Given the description of an element on the screen output the (x, y) to click on. 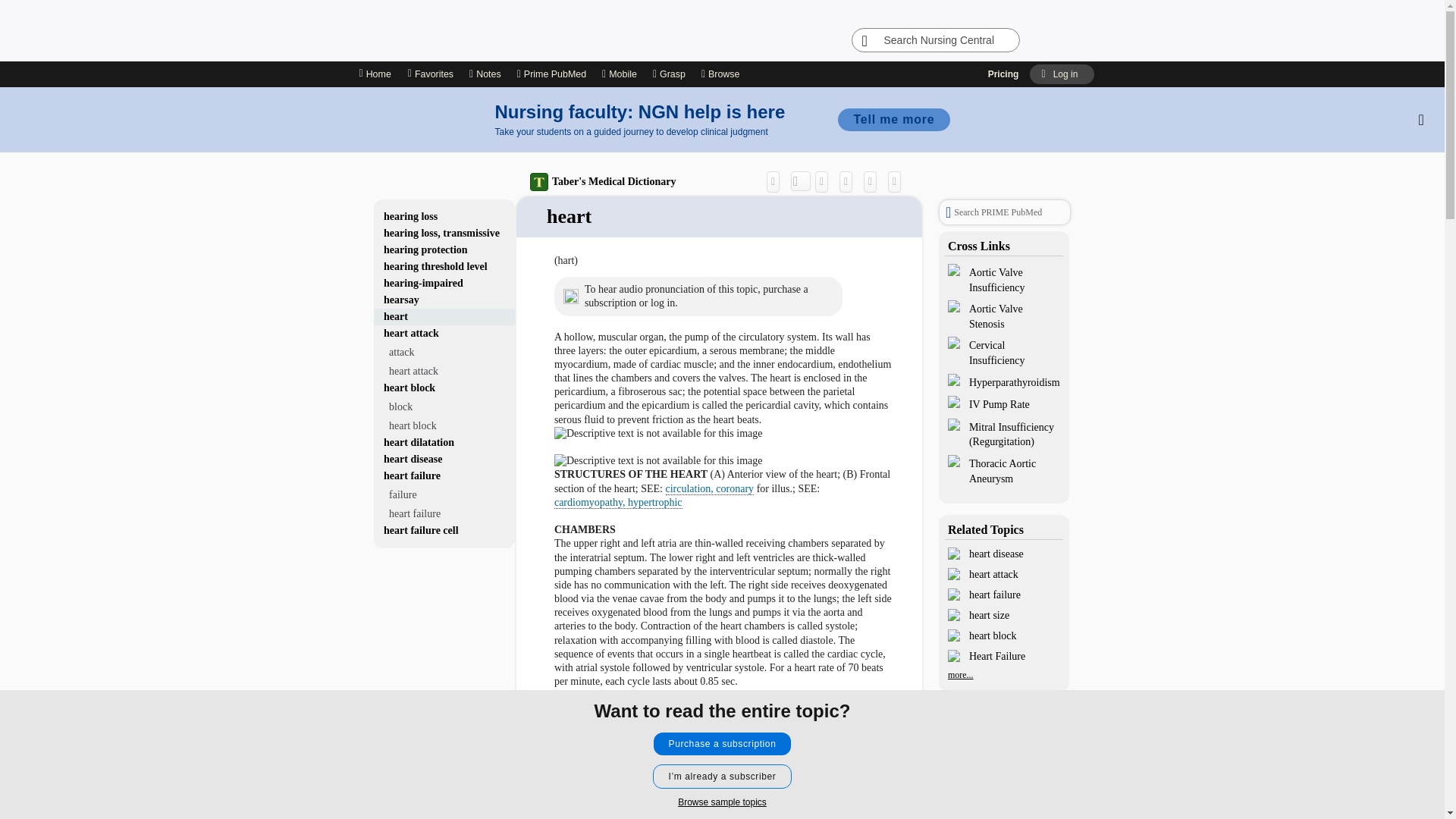
Search Taber's Medical Dictionary (800, 180)
Grasp (669, 73)
Tell me more (893, 119)
Hyperparathyroidism (1003, 382)
IV Pump Rate (1003, 404)
Tag Record (898, 180)
Pricing (1003, 73)
Notes (484, 73)
Log In (1061, 74)
Browse (722, 73)
